Given the description of an element on the screen output the (x, y) to click on. 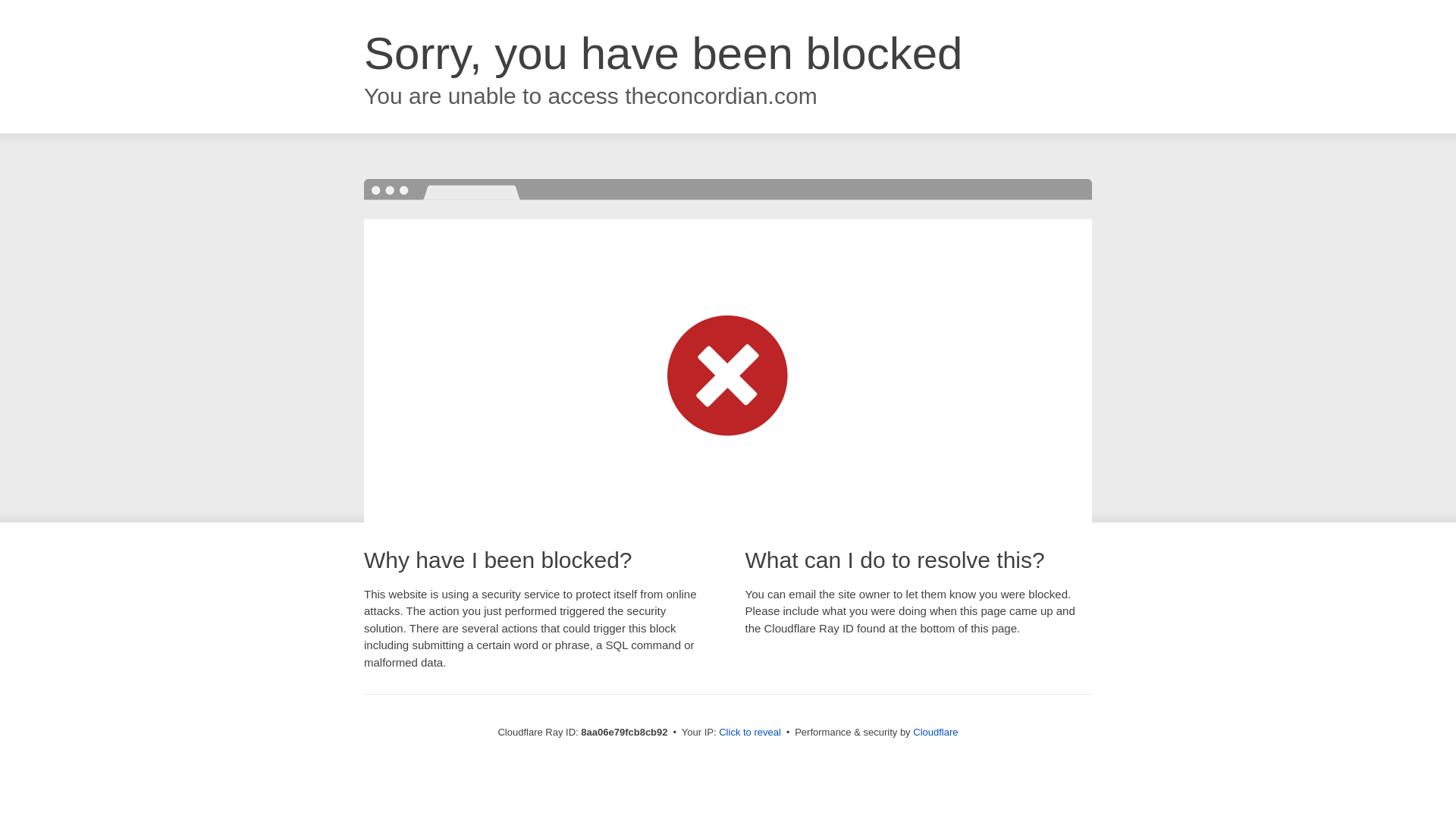
Click to reveal (749, 732)
Cloudflare (935, 731)
